Given the description of an element on the screen output the (x, y) to click on. 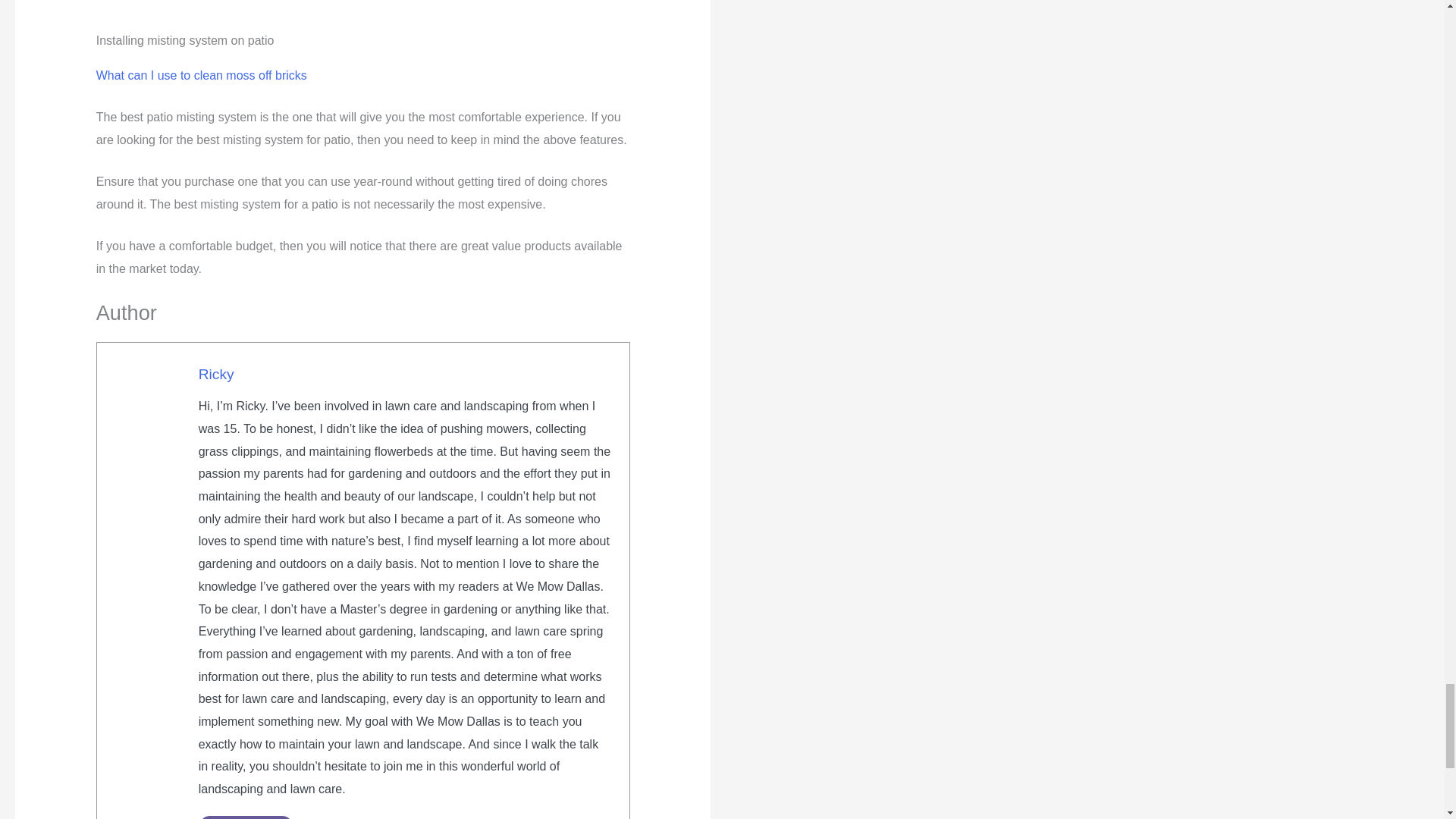
View all posts (246, 817)
Ricky (216, 374)
